Given the description of an element on the screen output the (x, y) to click on. 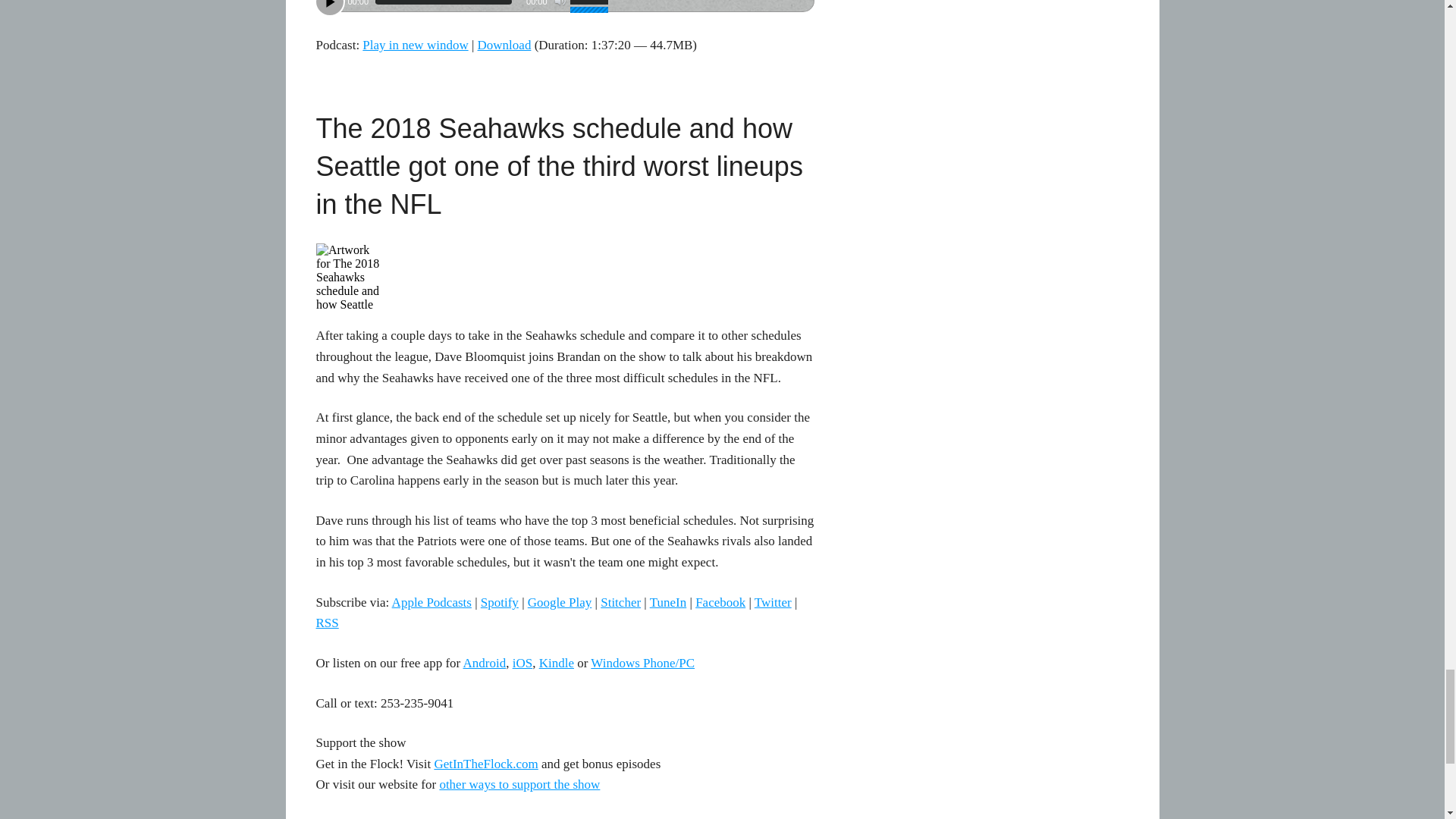
Play in new window (414, 44)
Mute (560, 3)
Download (504, 44)
Play (328, 7)
